Given the description of an element on the screen output the (x, y) to click on. 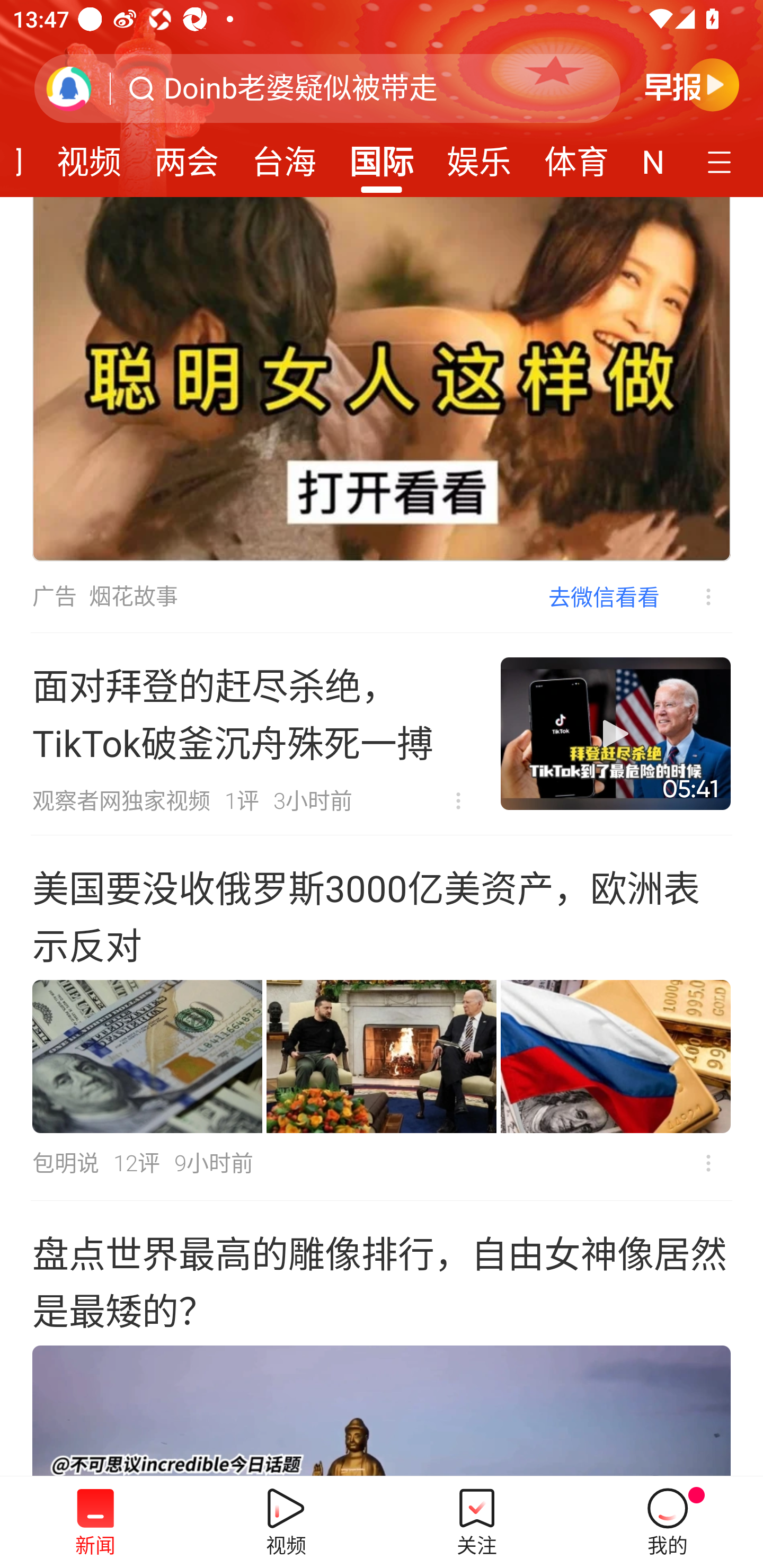
早晚报 (691, 84)
刷新 (68, 88)
Doinb老婆疑似被带走 (300, 88)
视频 (89, 155)
两会 (186, 155)
台海 (283, 155)
国际 (381, 155)
娱乐 (478, 155)
体育 (575, 155)
 定制频道 (721, 160)
 不感兴趣 (694, 596)
去微信看看 (603, 596)
广告 (54, 596)
烟花故事 (133, 596)
 不感兴趣 (458, 801)
 不感兴趣 (707, 1163)
盘点世界最高的雕像排行，自由女神像居然是最矮的？ (381, 1339)
